Given the description of an element on the screen output the (x, y) to click on. 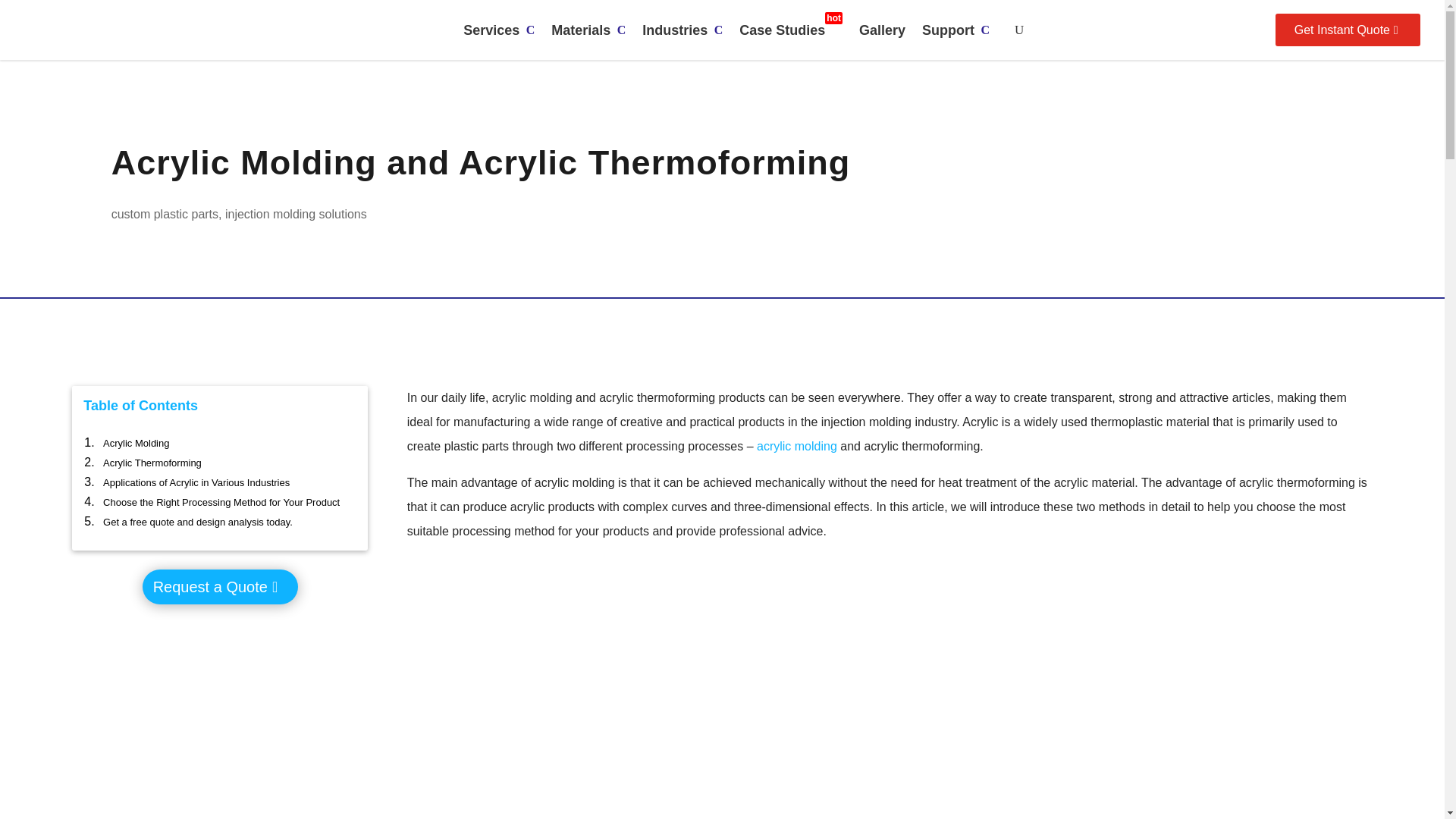
Materials (791, 29)
Acrylic Molding (588, 29)
Support (634, 709)
Gallery (955, 29)
Industries (882, 29)
Services (682, 29)
